Given the description of an element on the screen output the (x, y) to click on. 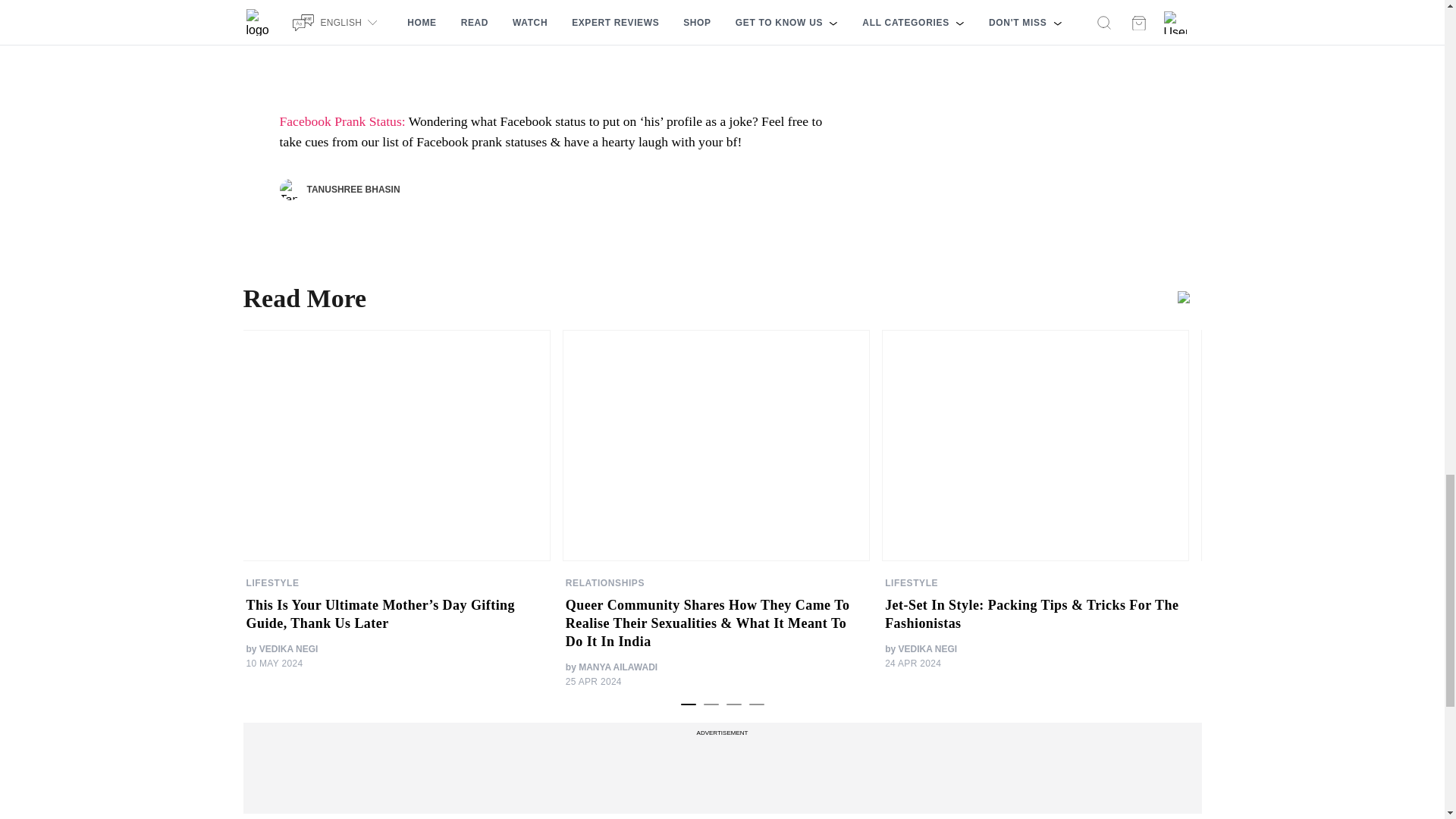
TANUSHREE BHASIN (338, 189)
Facebook Prank Status (341, 120)
Tanushree Bhasin (289, 189)
Facebook Prank Status: (341, 120)
